Given the description of an element on the screen output the (x, y) to click on. 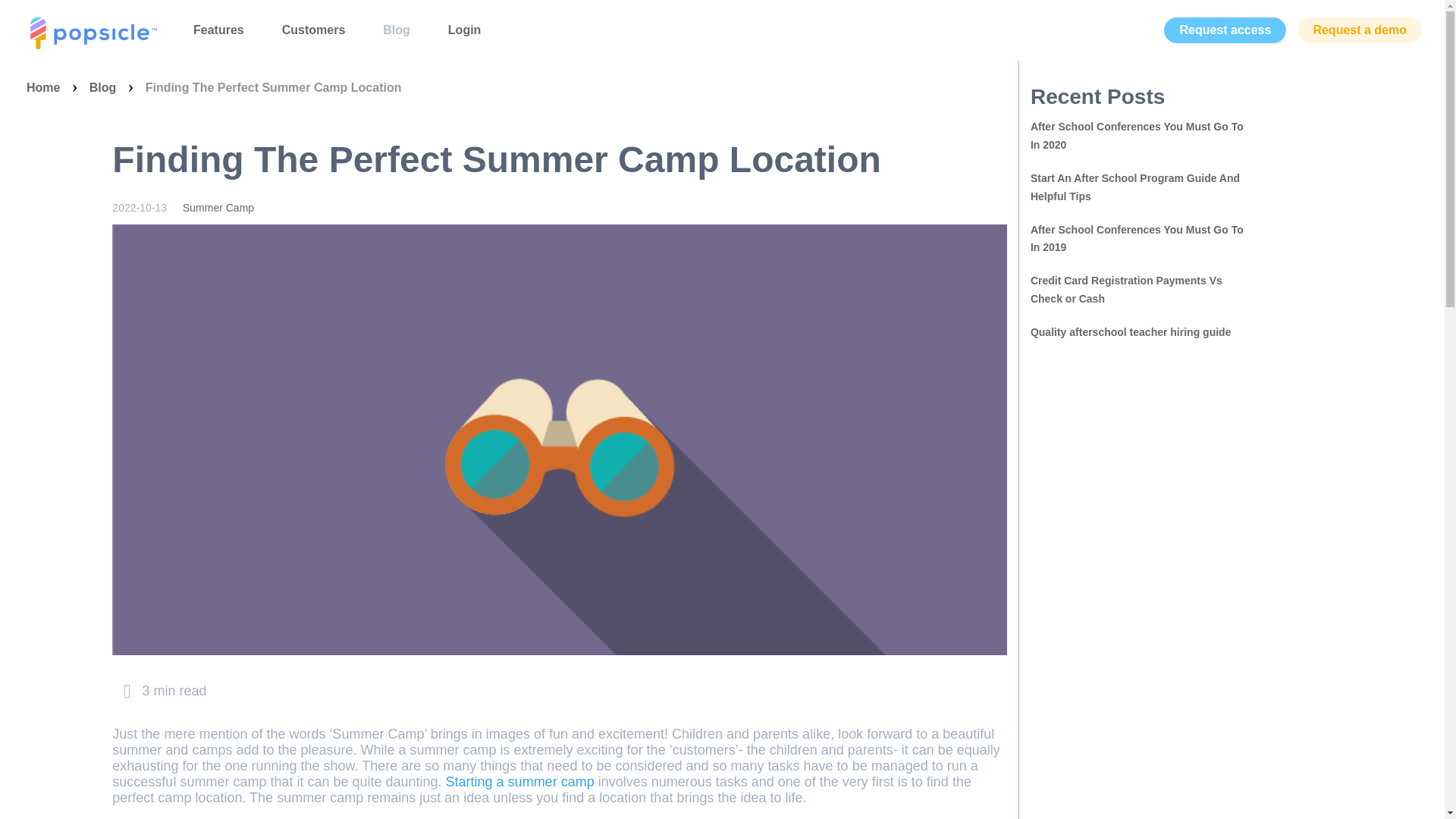
Home (42, 87)
Check our experience of after school program management (1141, 187)
Blog (396, 29)
Request a demo (1359, 29)
Request access (1225, 29)
Start An After School Program Guide And Helpful Tips (1141, 187)
Contact with us! (1225, 29)
Credit Card Registration Payments Vs Check or Cash (1141, 289)
Customers (314, 29)
Starting a summer camp (519, 781)
